Given the description of an element on the screen output the (x, y) to click on. 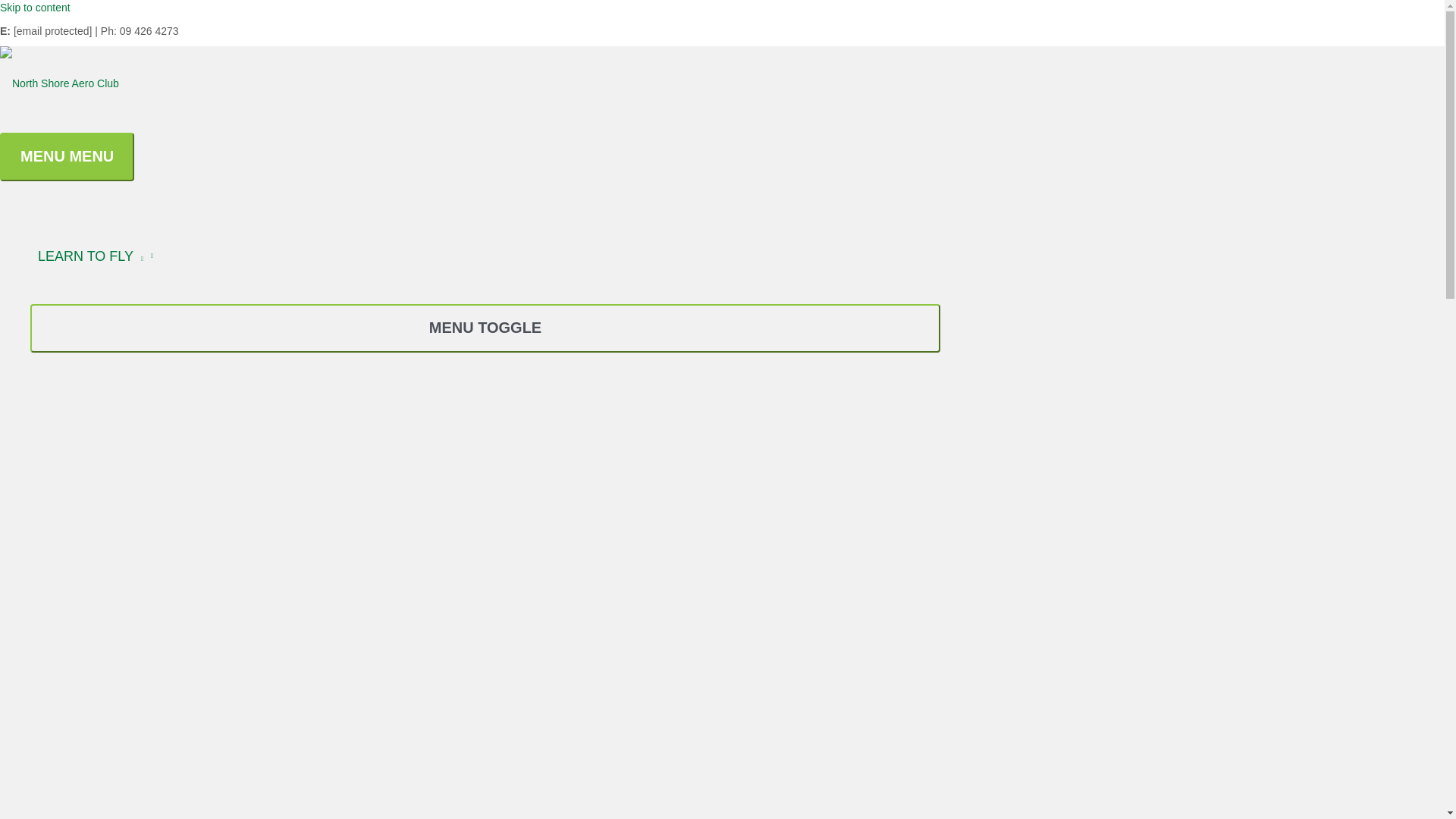
LEARN TO FLY (485, 255)
MENU TOGGLE (485, 327)
Skip to content (34, 7)
Ph: 09 426 4273 (139, 30)
Skip to content (34, 7)
MENU MENU (66, 156)
